Given the description of an element on the screen output the (x, y) to click on. 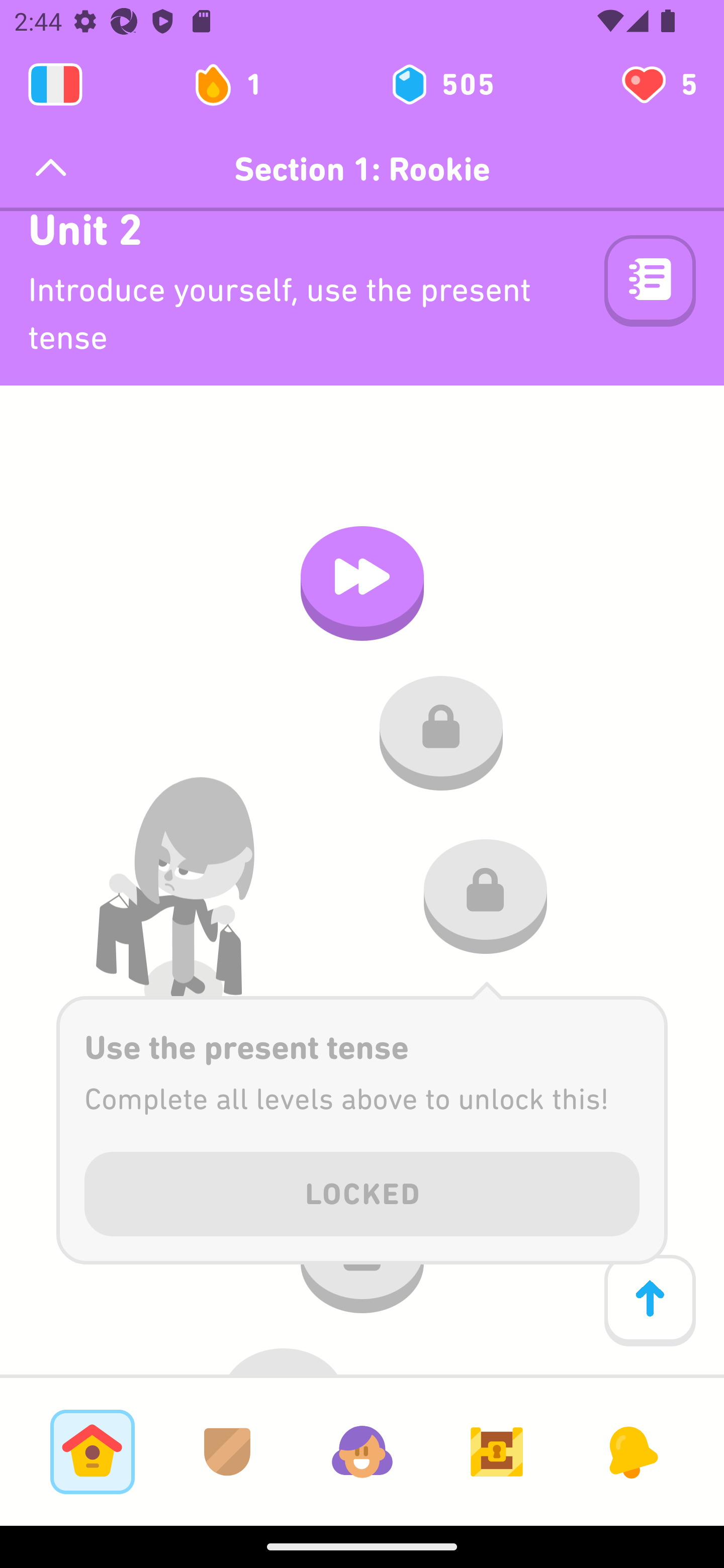
Learning 2131888976 (55, 84)
1 day streak 1 (236, 84)
505 (441, 84)
You have 5 hearts left 5 (657, 84)
Section 1: Rookie (362, 169)
LOCKED (361, 1189)
Learn Tab (91, 1451)
Leagues Tab (227, 1451)
Profile Tab (361, 1451)
Goals Tab (496, 1451)
News Tab (631, 1451)
